Given the description of an element on the screen output the (x, y) to click on. 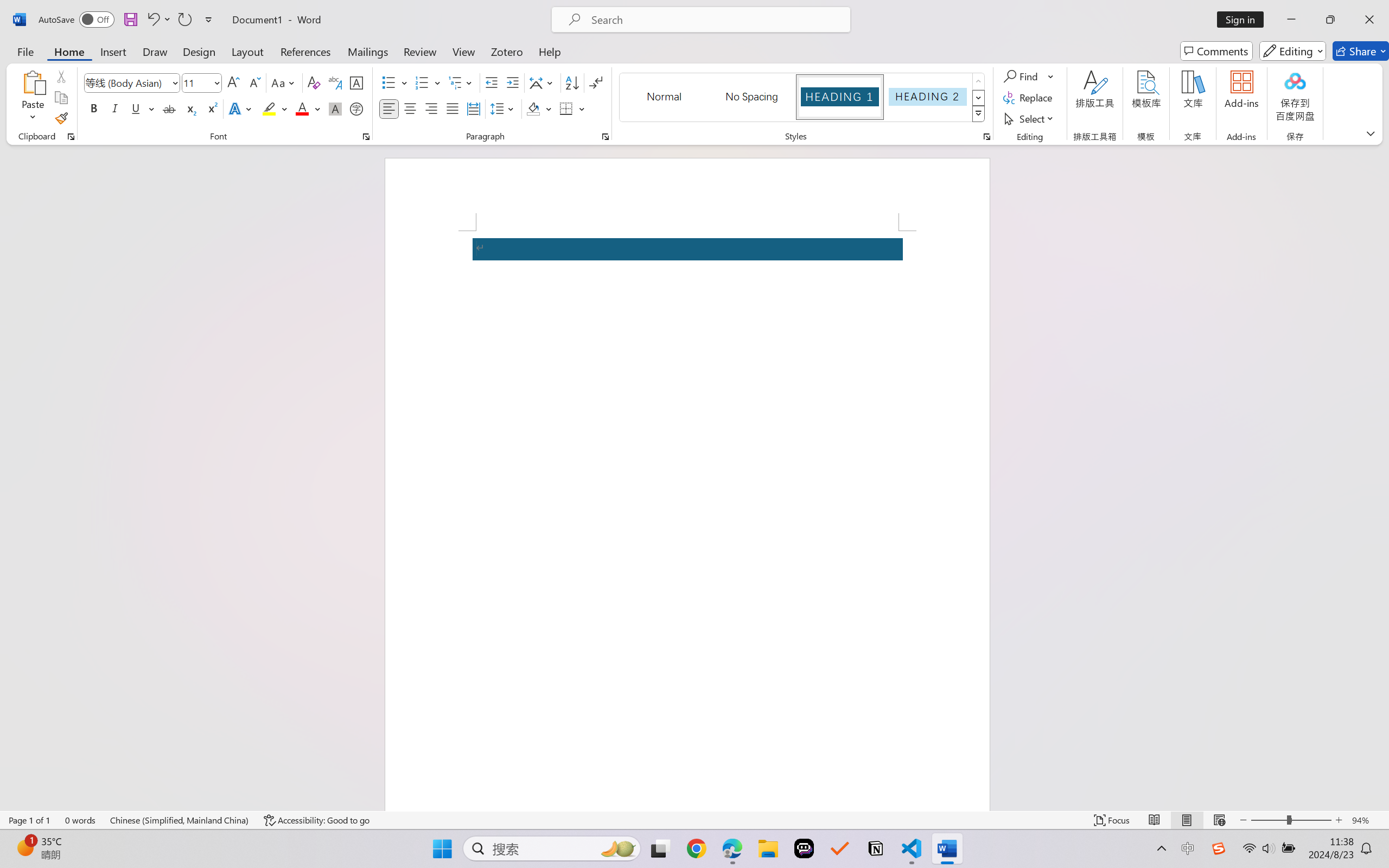
Report history (61, 663)
Contact us (29, 756)
Creators (65, 756)
Developers (65, 767)
News (61, 468)
Google - YouTube (985, 12)
Send feedback (61, 711)
Policy & Safety (87, 785)
Close help bubble (1370, 74)
